Given the description of an element on the screen output the (x, y) to click on. 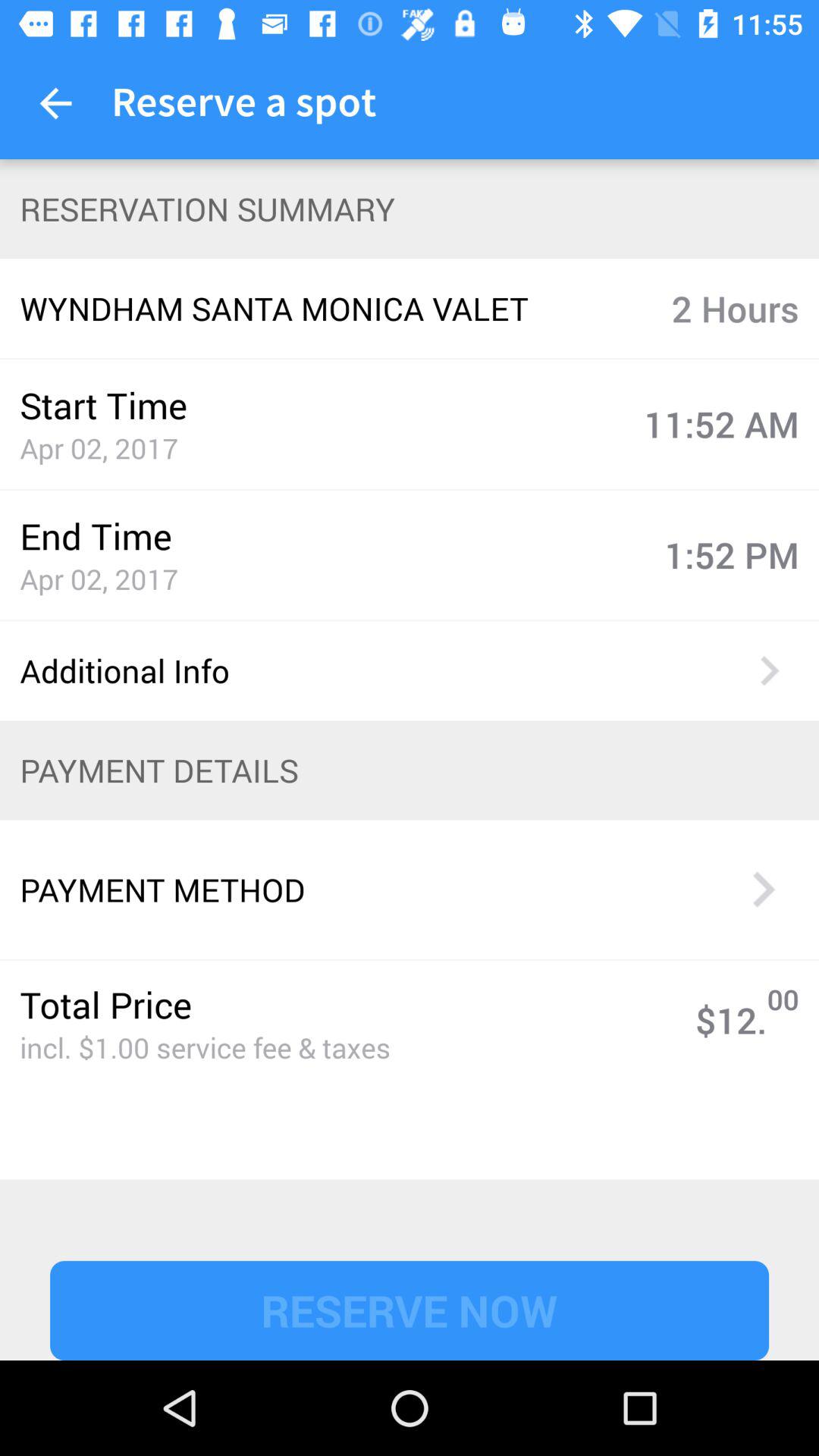
select arrow icon in front of additional info (769, 670)
click on reserve now (409, 1309)
click on next button (763, 888)
